Given the description of an element on the screen output the (x, y) to click on. 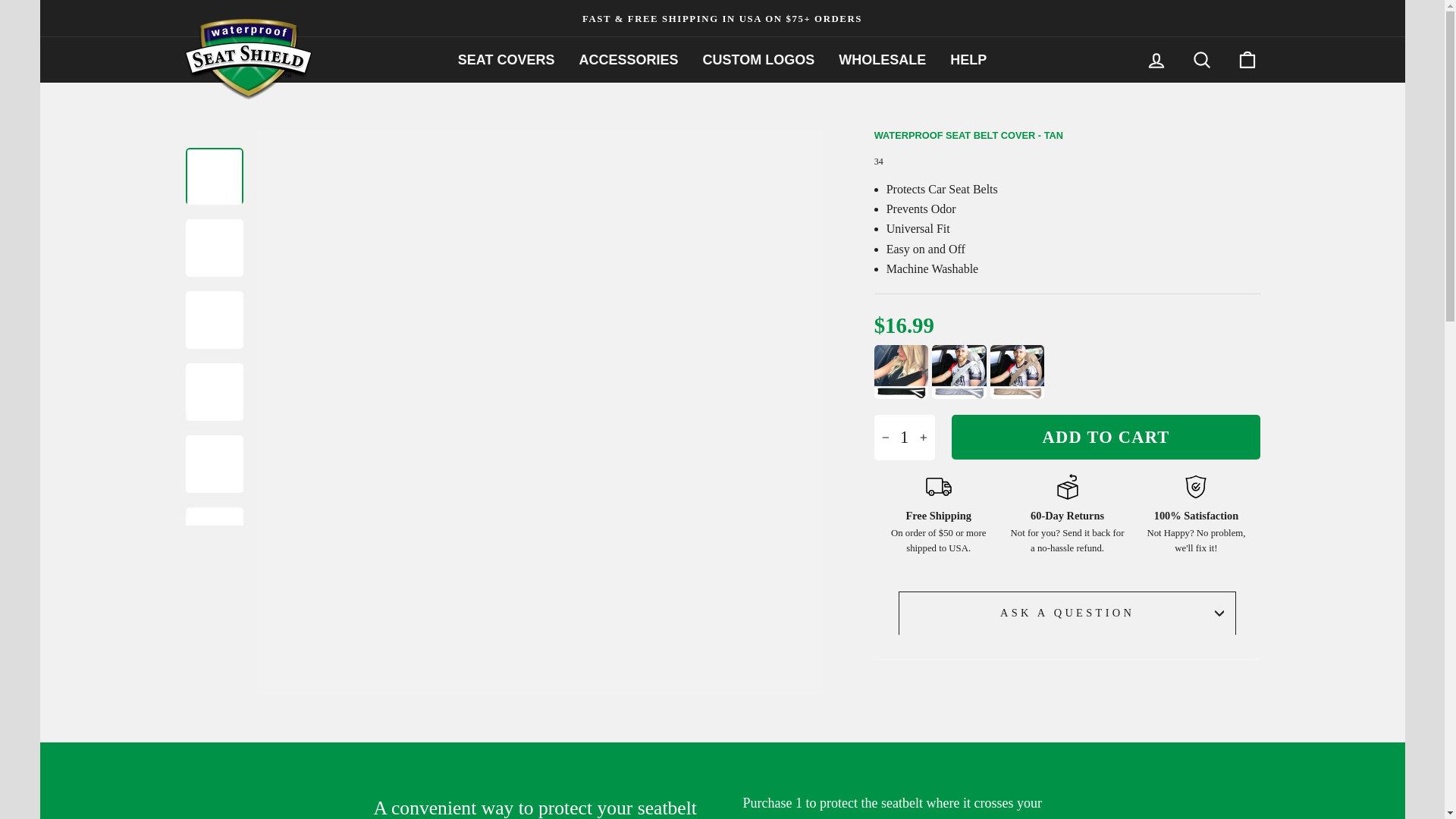
SEAT COVERS (506, 59)
ACCESSORIES (628, 59)
Waterproof Seat Belt Cover - Tan (1016, 373)
Waterproof Seat Belt Cover - Gray (958, 373)
Waterproof Seat Belt Cover - Black (901, 373)
CUSTOM LOGOS (758, 59)
1 (904, 437)
WHOLESALE (882, 59)
